Given the description of an element on the screen output the (x, y) to click on. 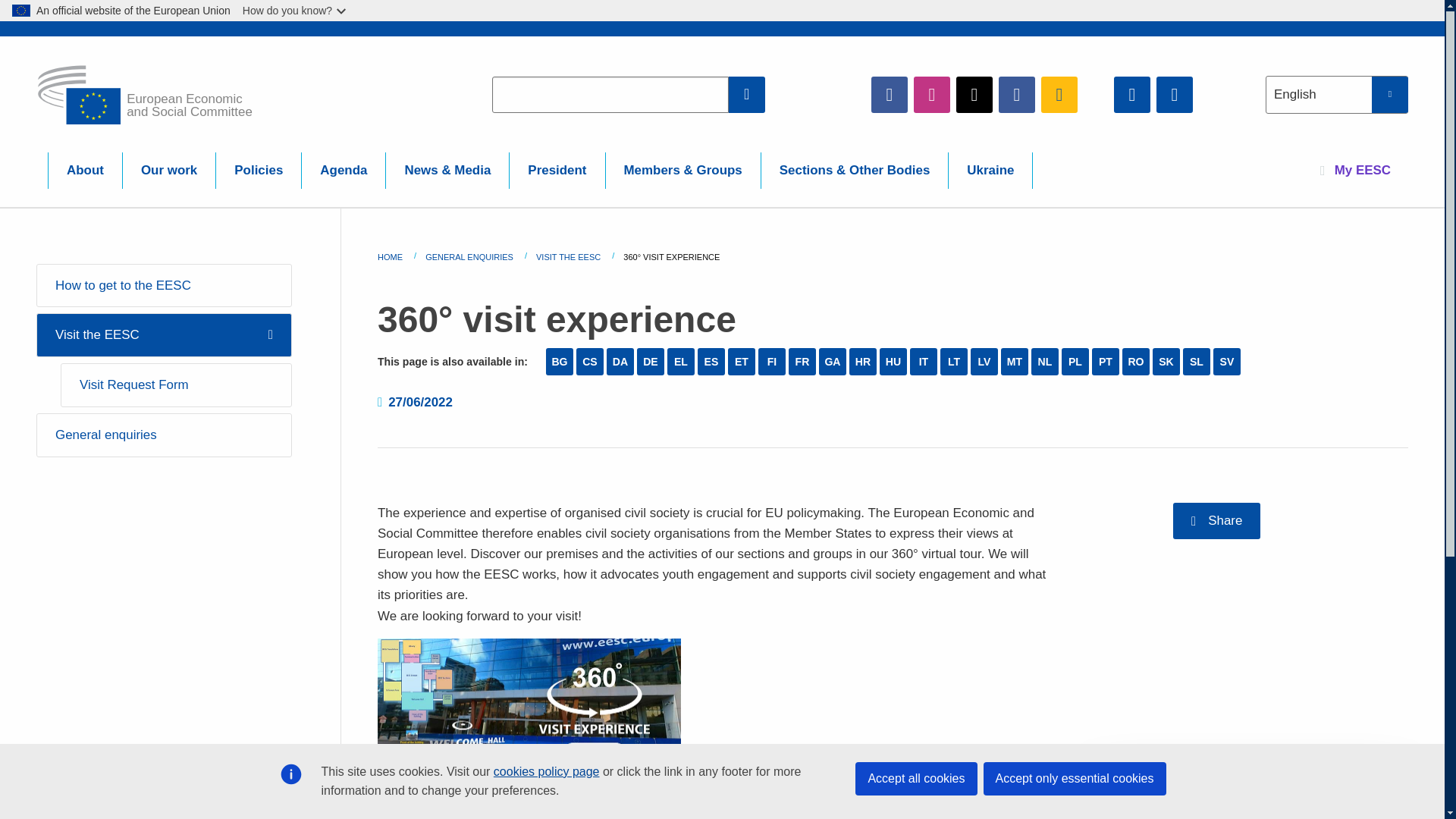
cookies policy page (546, 771)
My EESC (1355, 170)
How do you know? (295, 10)
Accept all cookies (916, 778)
Accept only essential cookies (1074, 778)
Search EESC Website (747, 94)
